Given the description of an element on the screen output the (x, y) to click on. 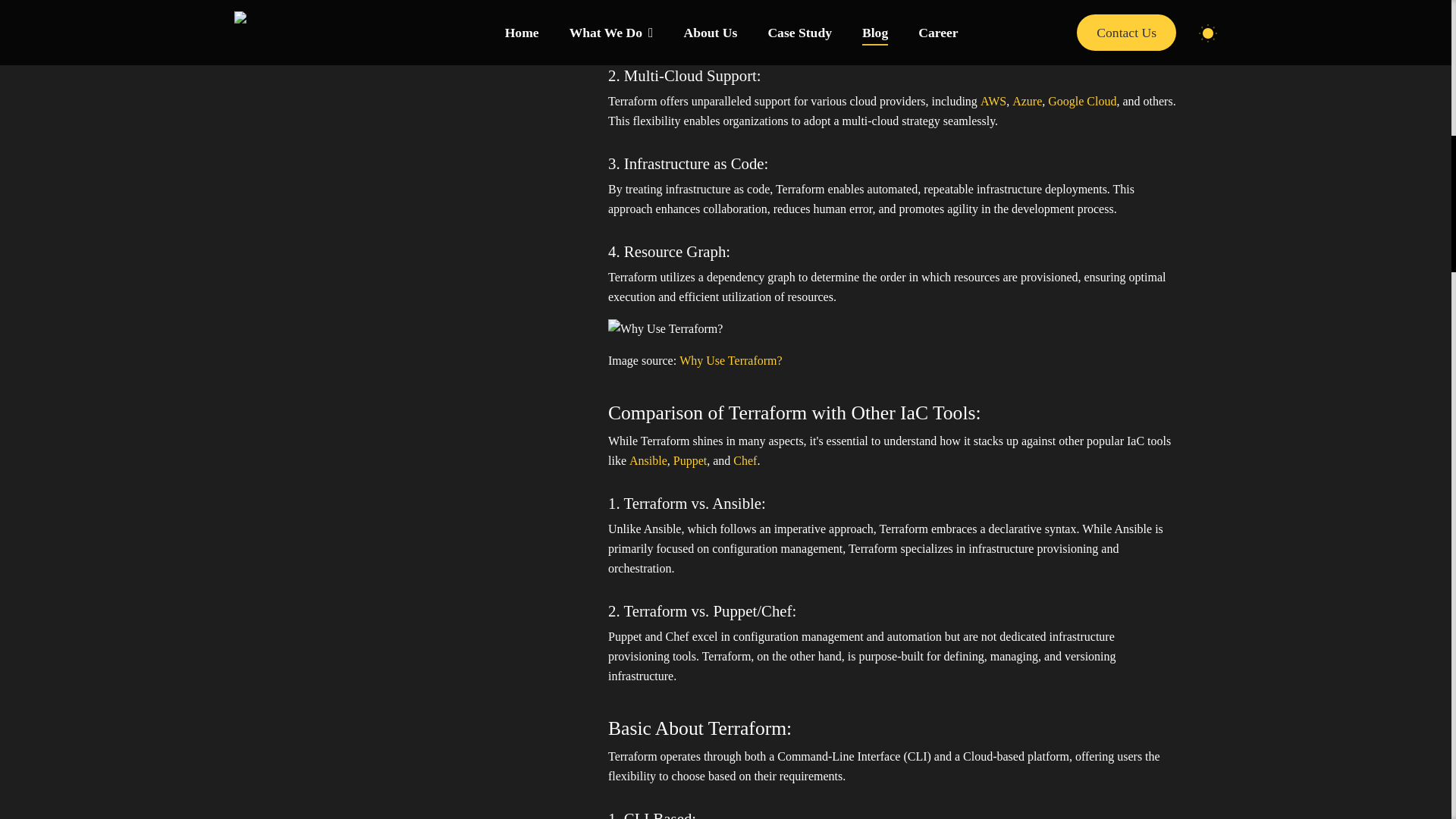
Puppet (689, 460)
Google Cloud (1082, 101)
Azure (1026, 101)
Ansible (647, 460)
Terraform (659, 2)
Chef (745, 460)
AWS (992, 101)
Why Use Terraform? (730, 361)
